Given the description of an element on the screen output the (x, y) to click on. 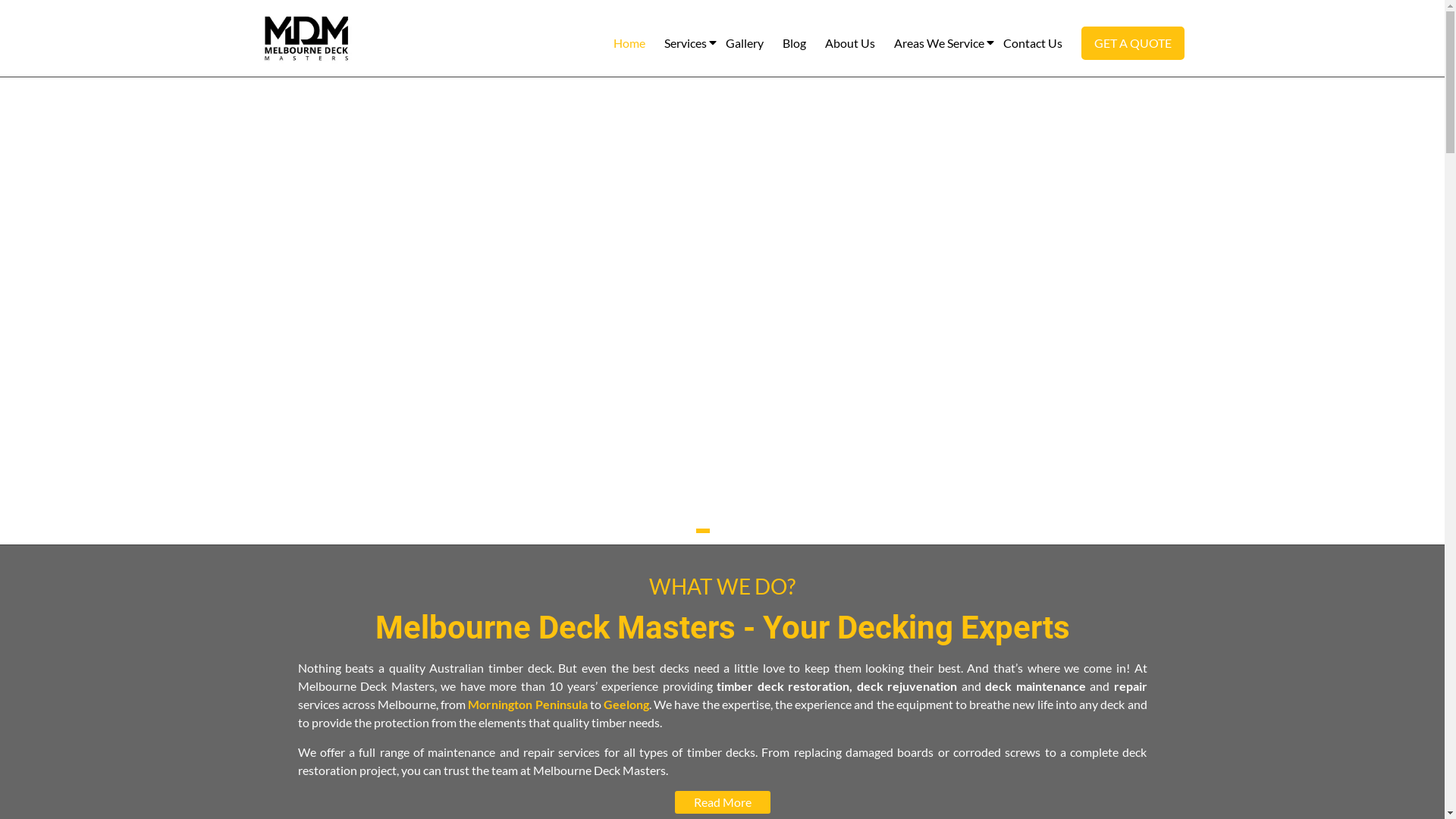
GET A QUOTE Element type: text (1132, 42)
Areas We Service Element type: text (938, 42)
Contact Us Element type: text (1031, 42)
Home Element type: text (628, 42)
Blog Element type: text (794, 42)
Gallery Element type: text (743, 42)
Services Element type: text (685, 42)
Geelong Element type: text (626, 703)
About Us Element type: text (850, 42)
Mornington Peninsula Element type: text (526, 703)
Read More Element type: text (722, 801)
